Given the description of an element on the screen output the (x, y) to click on. 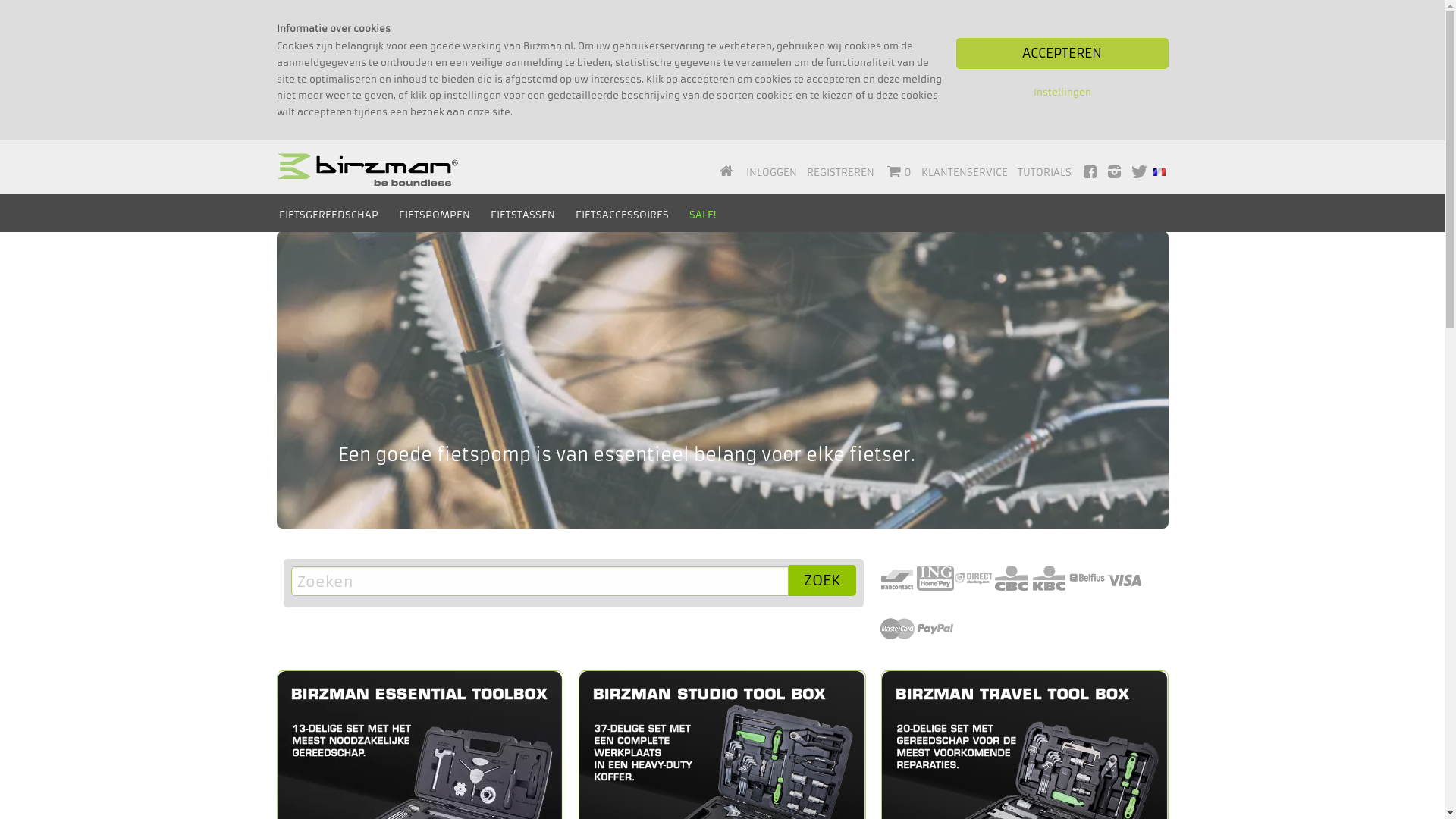
INLOGGEN Element type: text (771, 172)
Accepteren Element type: text (1061, 52)
SALE! Element type: text (702, 214)
FIETSPOMPEN Element type: text (434, 214)
Instellingen Element type: text (1062, 91)
Travelbox met gereedschap / 20 stuks  Element type: hover (1024, 793)
TUTORIALS Element type: text (1044, 172)
KLANTENSERVICE Element type: text (964, 172)
Birzman Essential Toolbox  Element type: hover (420, 793)
ZOEK Element type: text (822, 580)
FIETSTASSEN Element type: text (522, 214)
Studiobox met gereedschap / 37 stuks  Element type: hover (722, 793)
FIETSACCESSOIRES Element type: text (621, 214)
FIETSGEREEDSCHAP Element type: text (328, 214)
REGISTREREN Element type: text (840, 172)
0 Element type: text (897, 172)
